Given the description of an element on the screen output the (x, y) to click on. 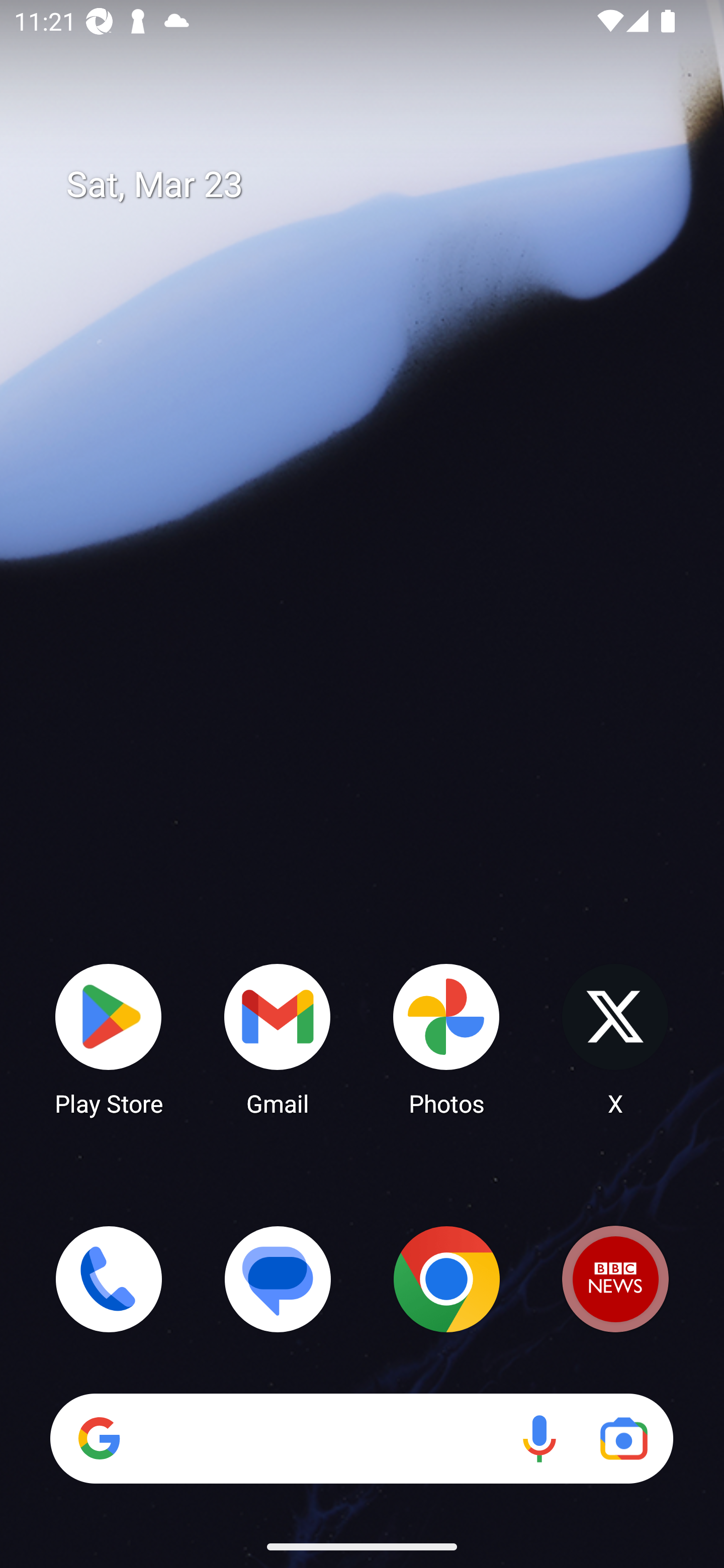
Sat, Mar 23 (375, 184)
Play Store (108, 1038)
Gmail (277, 1038)
Photos (445, 1038)
X (615, 1038)
Phone (108, 1279)
Messages (277, 1279)
Chrome (446, 1279)
BBC News Predicted app: BBC News (615, 1279)
Voice search (539, 1438)
Google Lens (623, 1438)
